Given the description of an element on the screen output the (x, y) to click on. 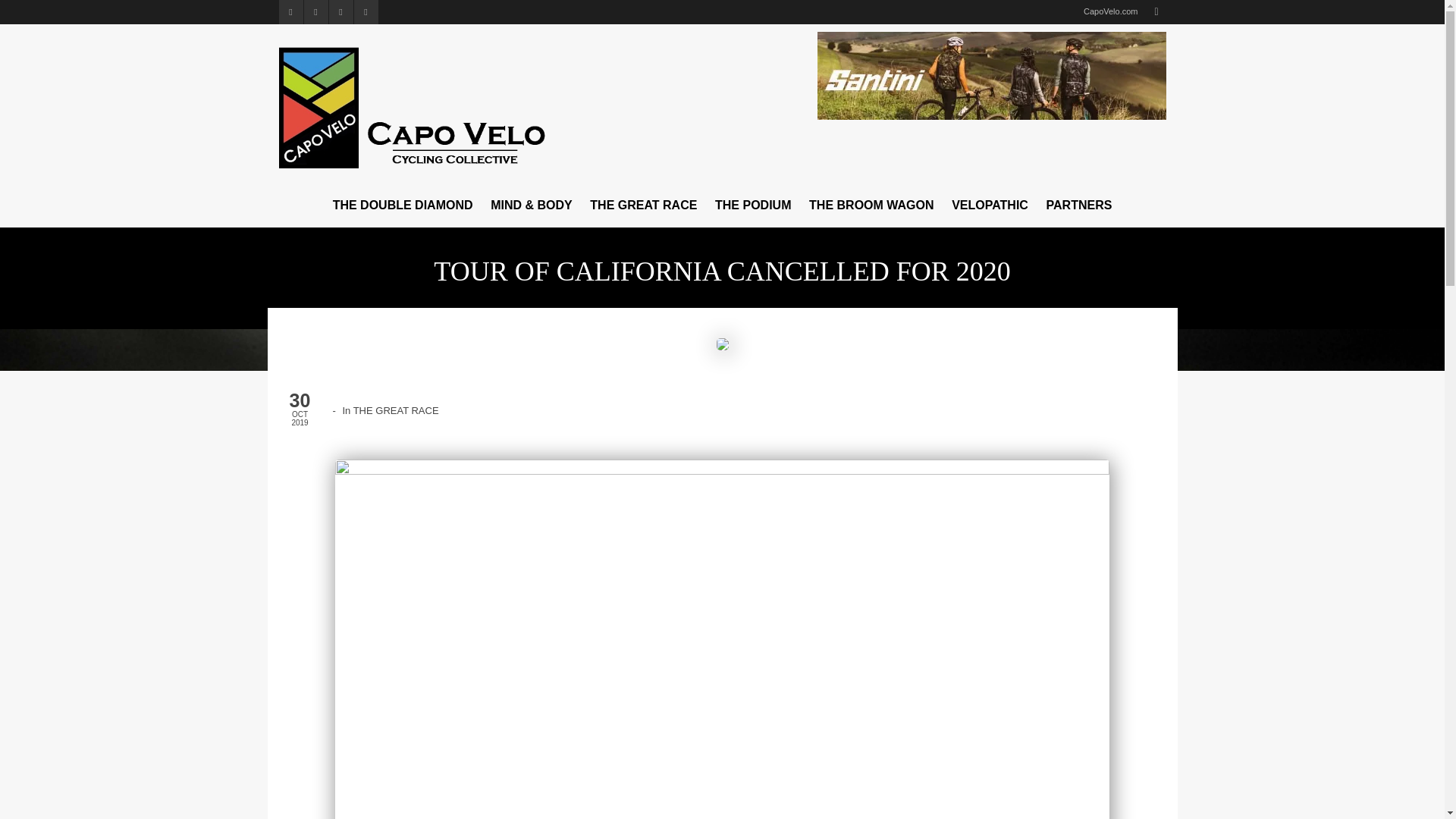
Pinterest (341, 12)
Facebook (314, 12)
THE DOUBLE DIAMOND (402, 205)
Instagram (365, 12)
Click here to search (1156, 12)
THE GREAT RACE (643, 205)
Twitter (290, 12)
